Given the description of an element on the screen output the (x, y) to click on. 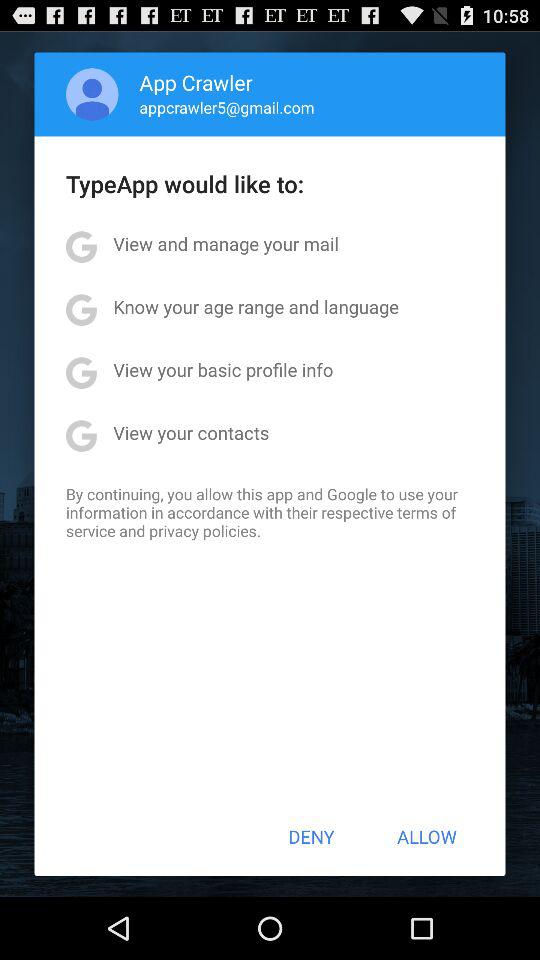
launch the item to the left of app crawler app (92, 94)
